Given the description of an element on the screen output the (x, y) to click on. 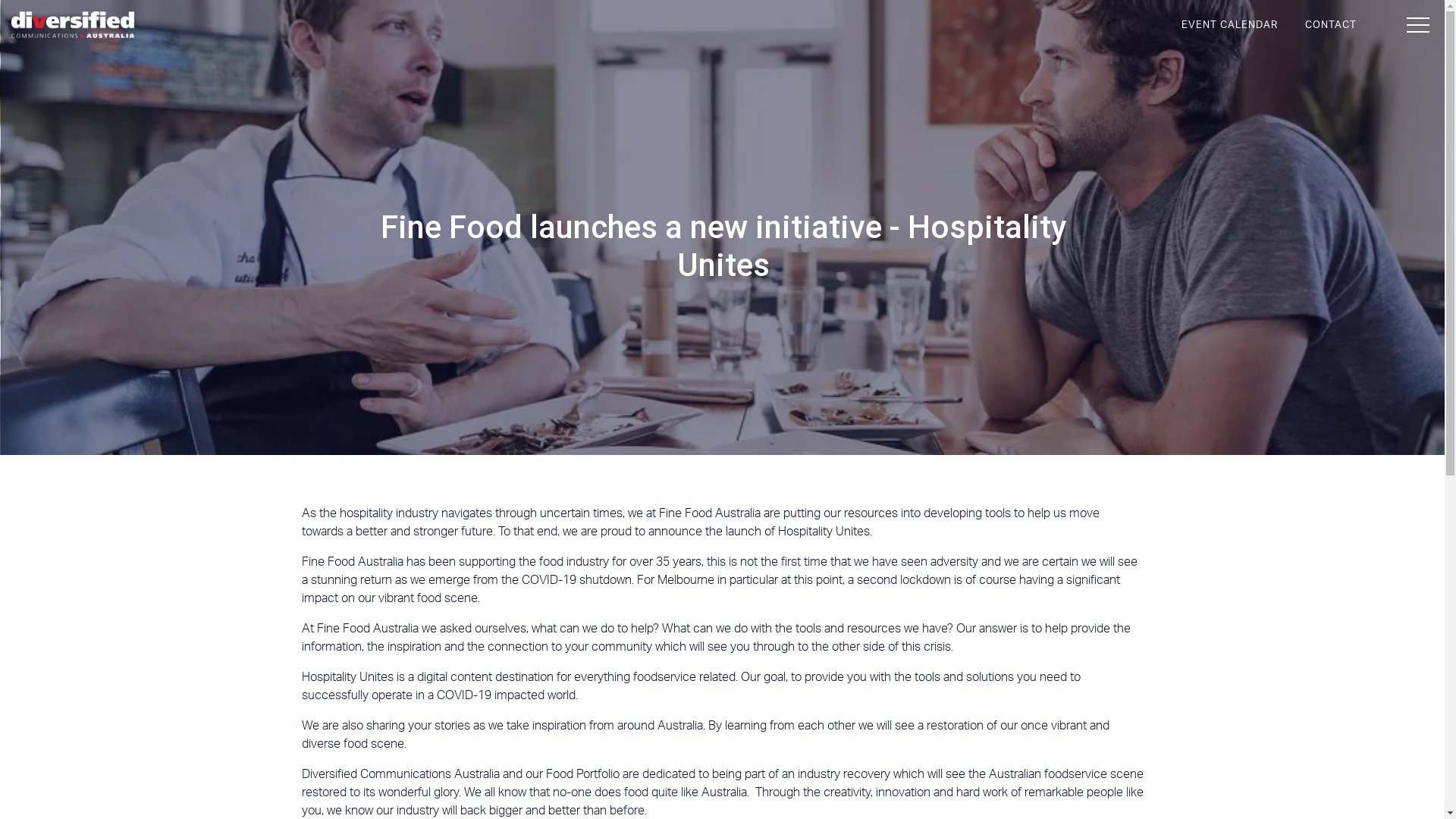
CONTACT Element type: text (1330, 24)
Diversified Communications Australia Element type: hover (72, 23)
EVENT CALENDAR Element type: text (1229, 24)
